Given the description of an element on the screen output the (x, y) to click on. 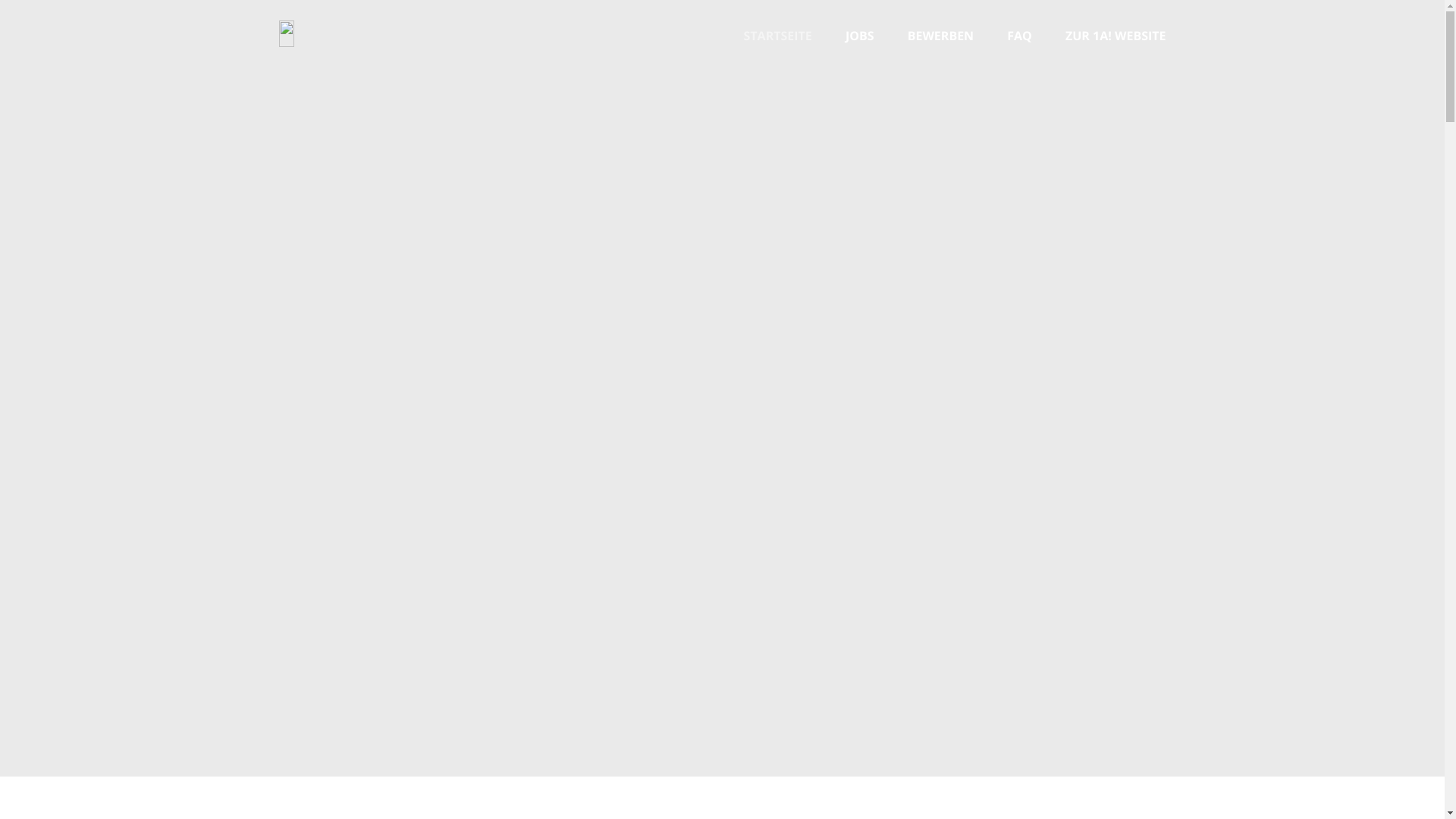
ZUR 1A! WEBSITE Element type: text (1115, 35)
STARTSEITE Element type: text (777, 35)
JOBS Element type: text (859, 35)
BEWERBEN Element type: text (940, 35)
FAQ Element type: text (1019, 35)
